Given the description of an element on the screen output the (x, y) to click on. 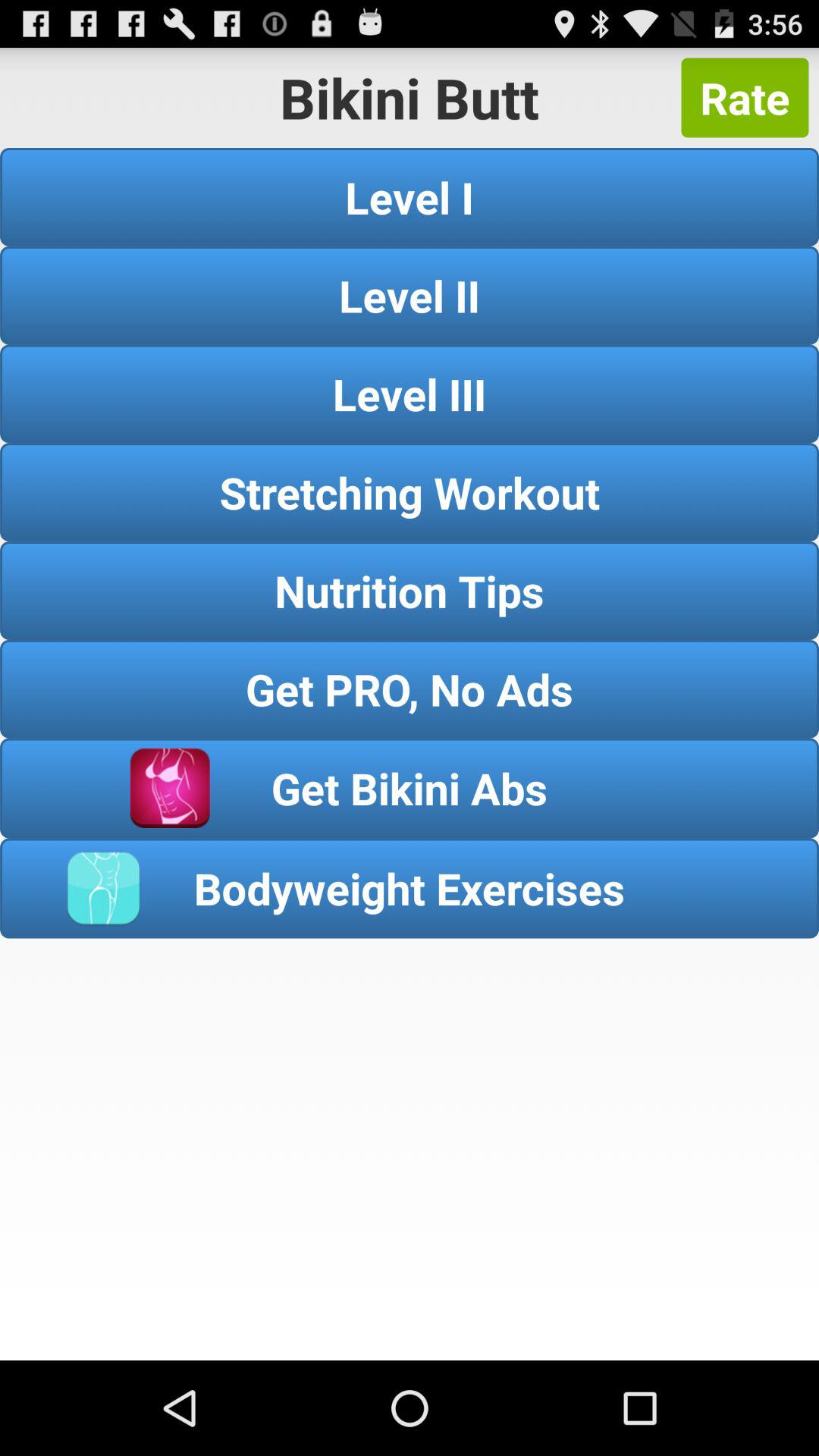
press the button below level i button (409, 295)
